Given the description of an element on the screen output the (x, y) to click on. 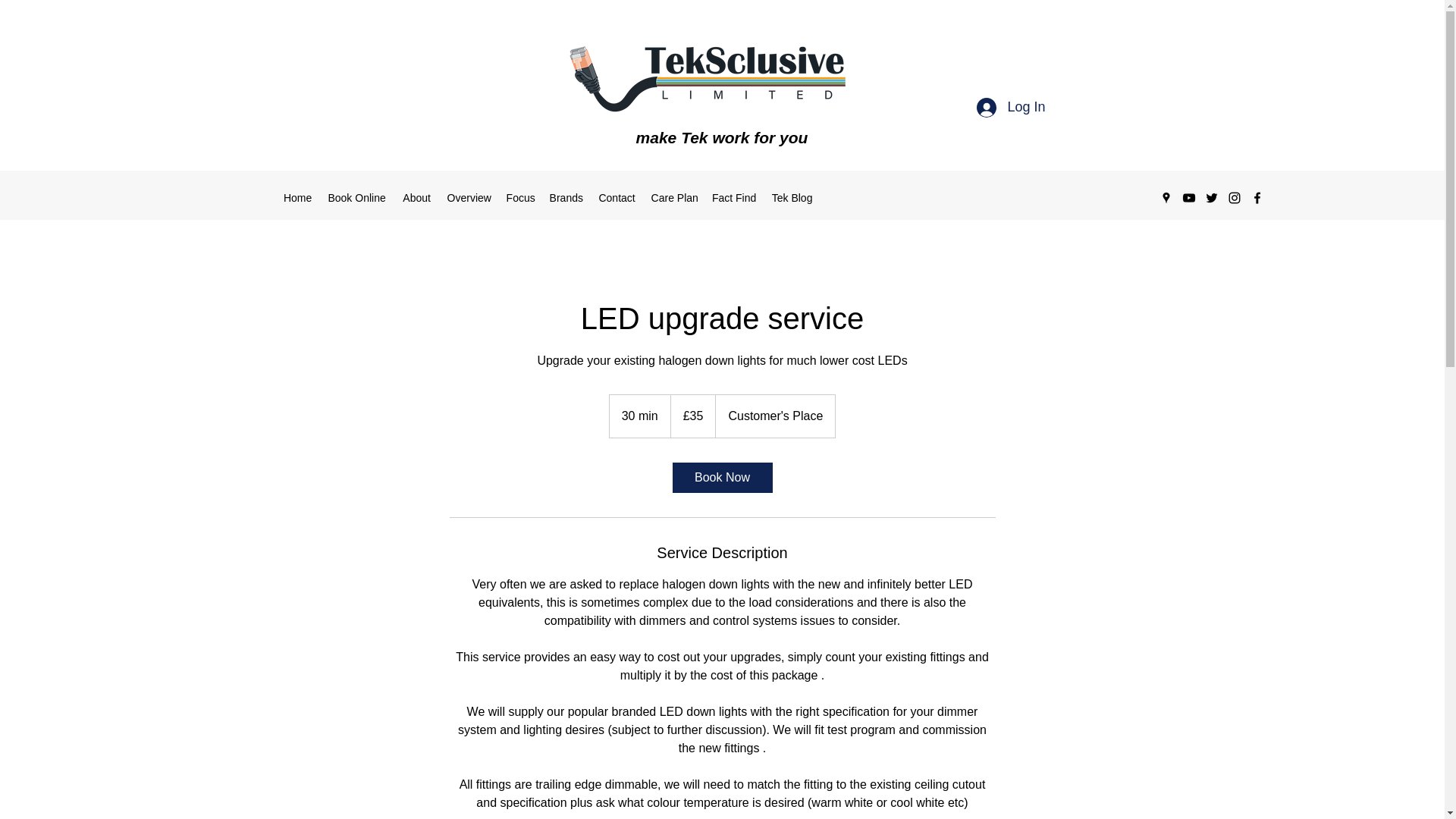
Book Now (721, 477)
Focus (520, 197)
Book Online (357, 197)
Home (298, 197)
Fact Find (734, 197)
Tek Blog (792, 197)
Contact (617, 197)
Brands (566, 197)
Care Plan (673, 197)
Log In (1010, 107)
